Given the description of an element on the screen output the (x, y) to click on. 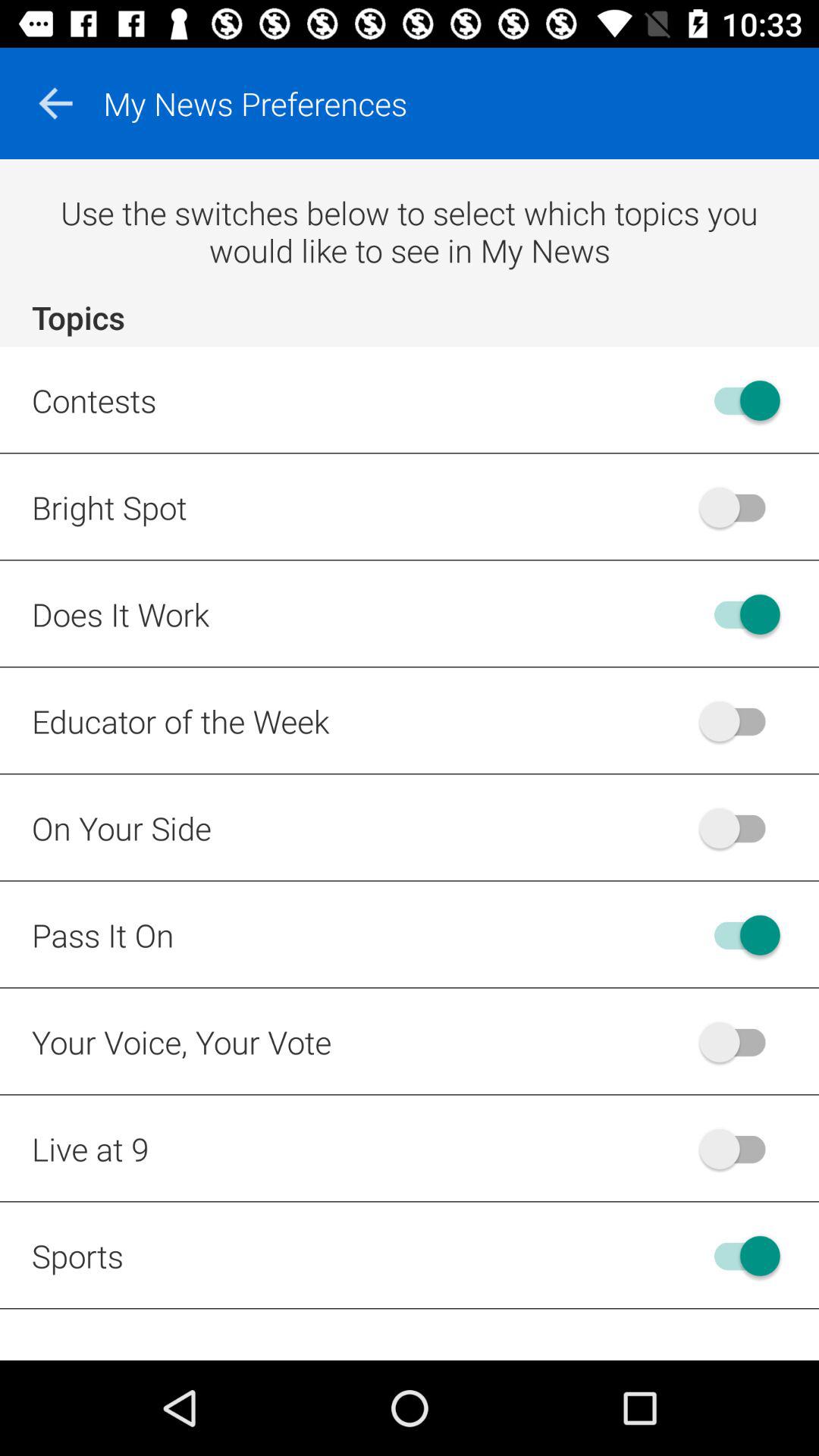
toggle bright spot preference (739, 506)
